Given the description of an element on the screen output the (x, y) to click on. 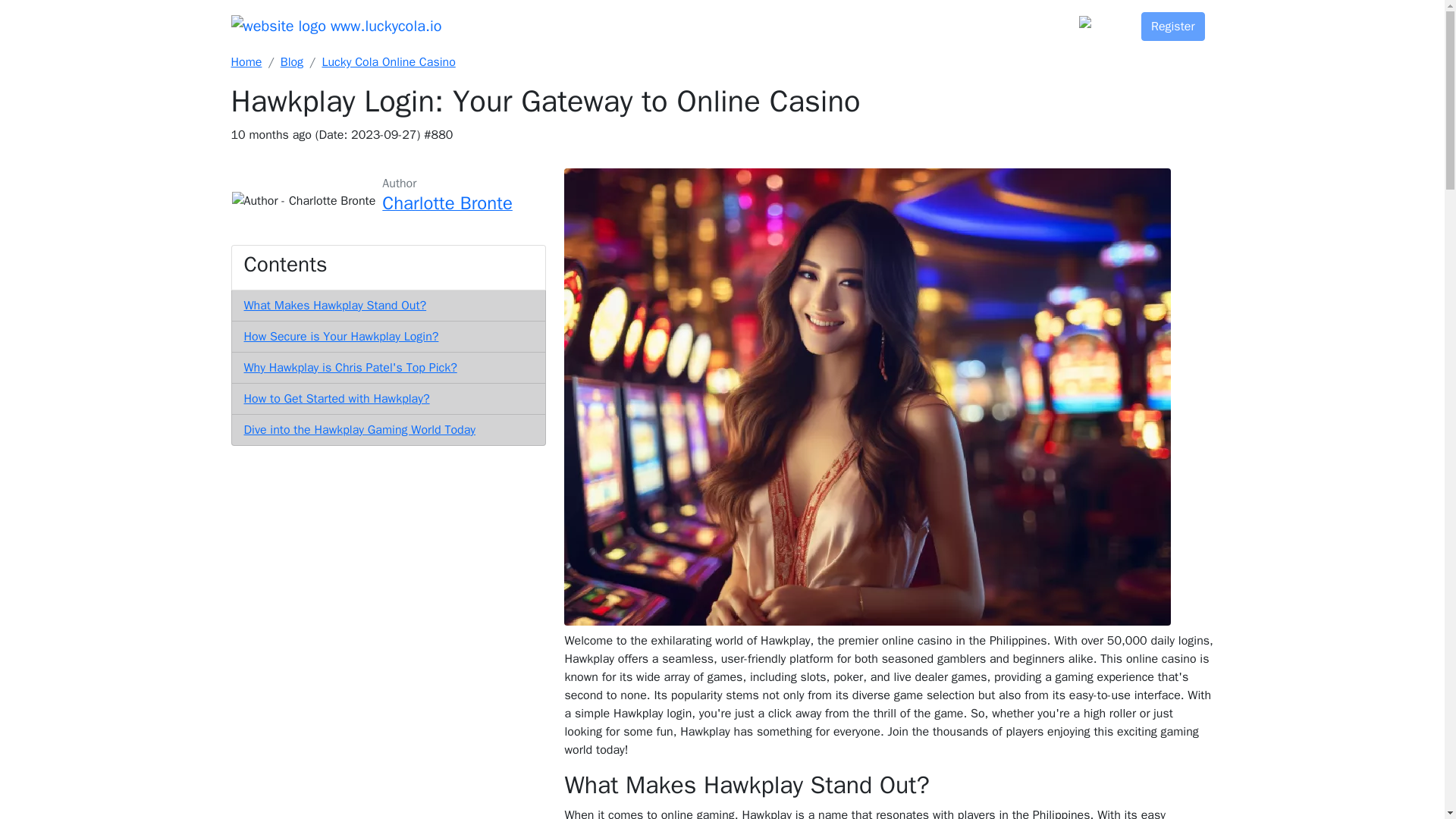
Blog (1049, 20)
Why Hawkplay is Chris Patel's Top Pick? (350, 367)
How to Get Started with Hawkplay? (336, 398)
Guide (897, 20)
Lucky Cola Online Casino (387, 61)
Lucky Cola Blog (291, 61)
Home (246, 61)
Lucky Cola Blog - lucky cola online casino (387, 61)
How Secure is Your Hawkplay Login? (341, 336)
Why Hawkplay is Chris Patel (350, 367)
Blog (291, 61)
Charlotte Bronte (446, 205)
What Makes Hawkplay Stand Out? (335, 305)
Sabong (842, 20)
Register (1173, 25)
